Given the description of an element on the screen output the (x, y) to click on. 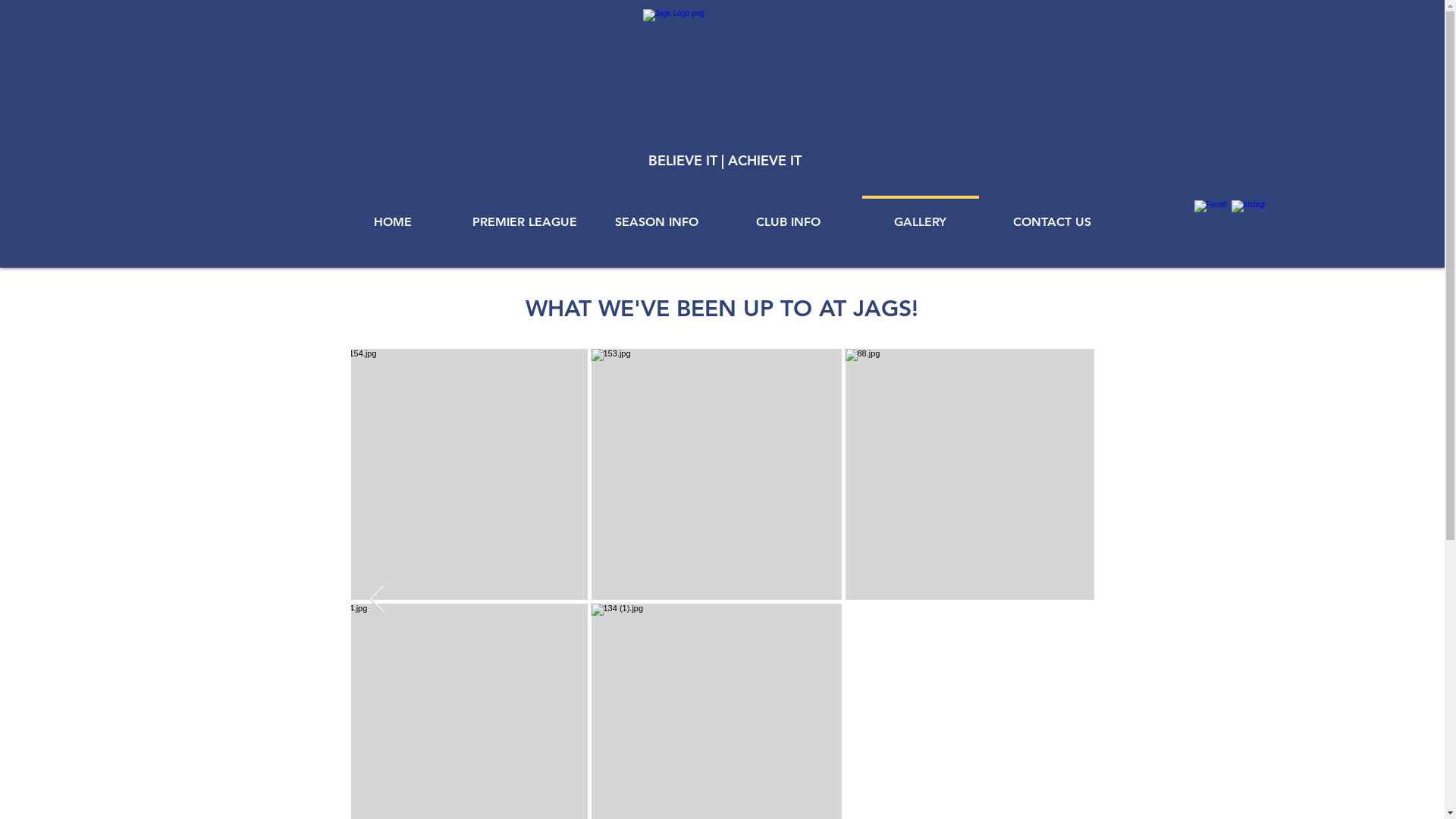
HOME Element type: text (392, 214)
GALLERY Element type: text (919, 214)
CLUB INFO Element type: text (787, 214)
CONTACT US Element type: text (1051, 214)
SEASON INFO Element type: text (655, 214)
PREMIER LEAGUE Element type: text (523, 214)
